Given the description of an element on the screen output the (x, y) to click on. 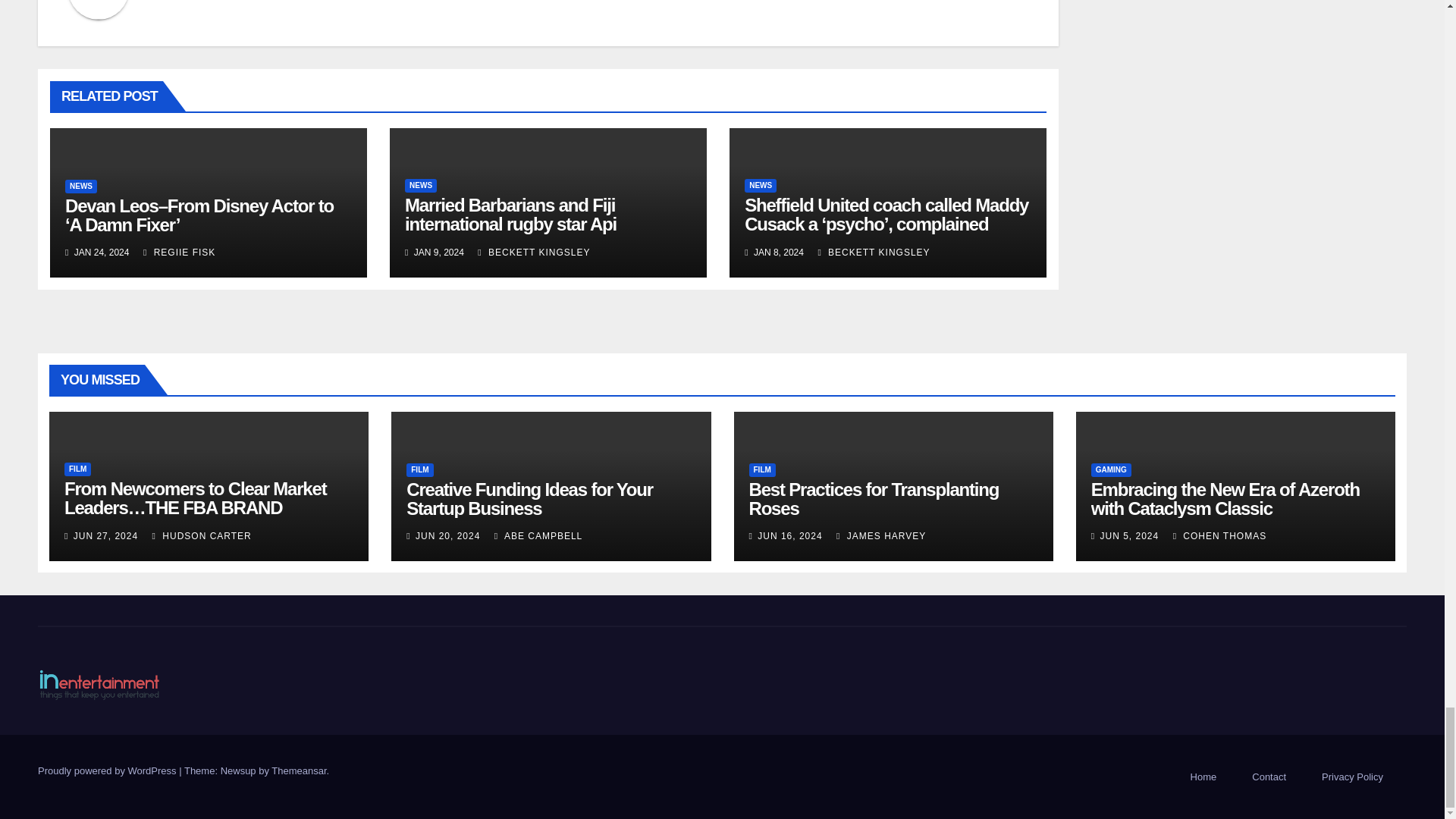
REGIIE FISK (178, 252)
NEWS (81, 186)
BECKETT KINGSLEY (873, 252)
NEWS (760, 185)
Permalink to: Best Practices for Transplanting Roses (873, 498)
BECKETT KINGSLEY (533, 252)
Home (1202, 776)
